Given the description of an element on the screen output the (x, y) to click on. 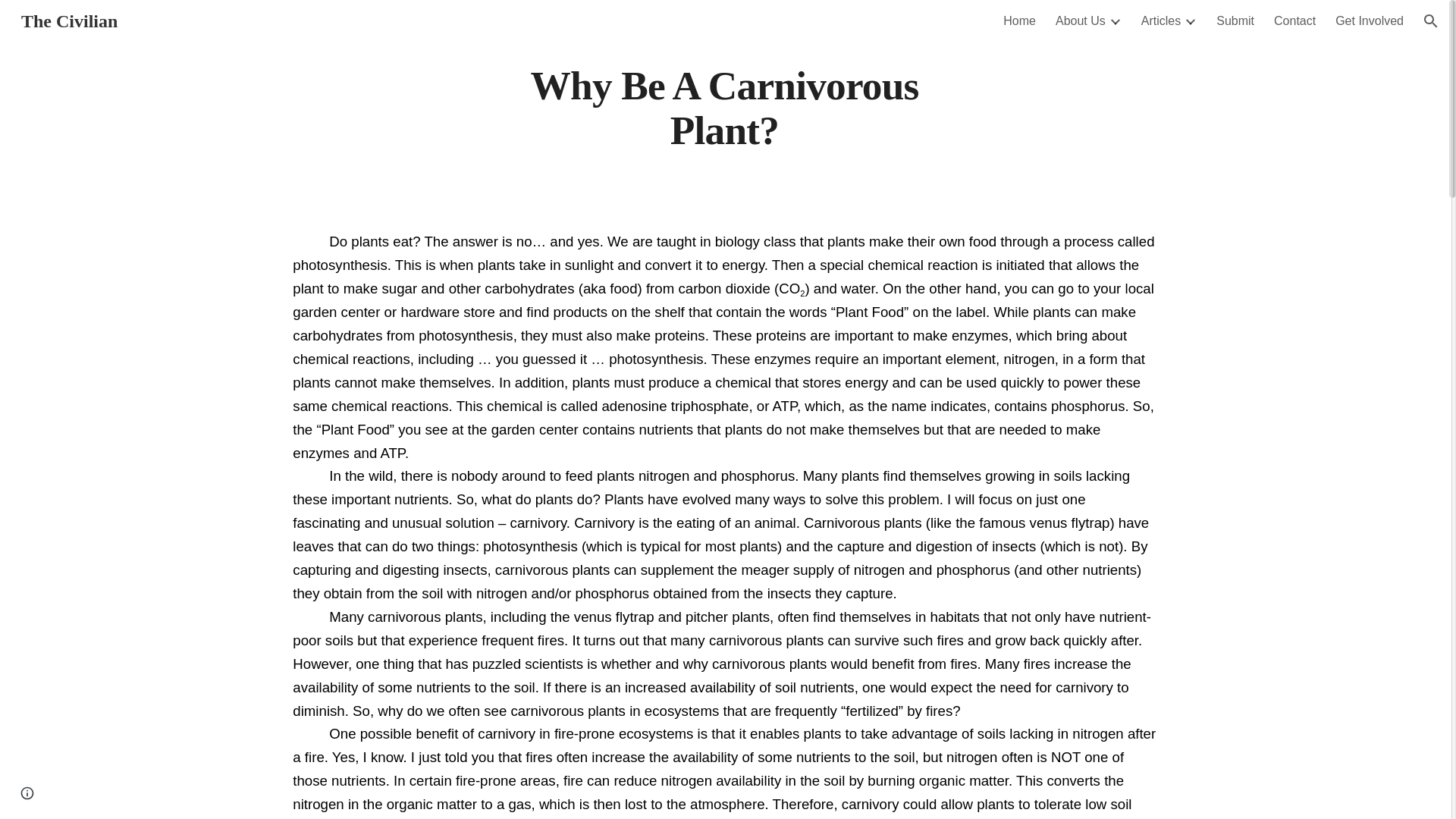
About Us (1080, 20)
Contact (1295, 20)
Get Involved (1369, 20)
The Civilian (68, 19)
Home (1019, 20)
Articles (1160, 20)
Submit (1234, 20)
